Given the description of an element on the screen output the (x, y) to click on. 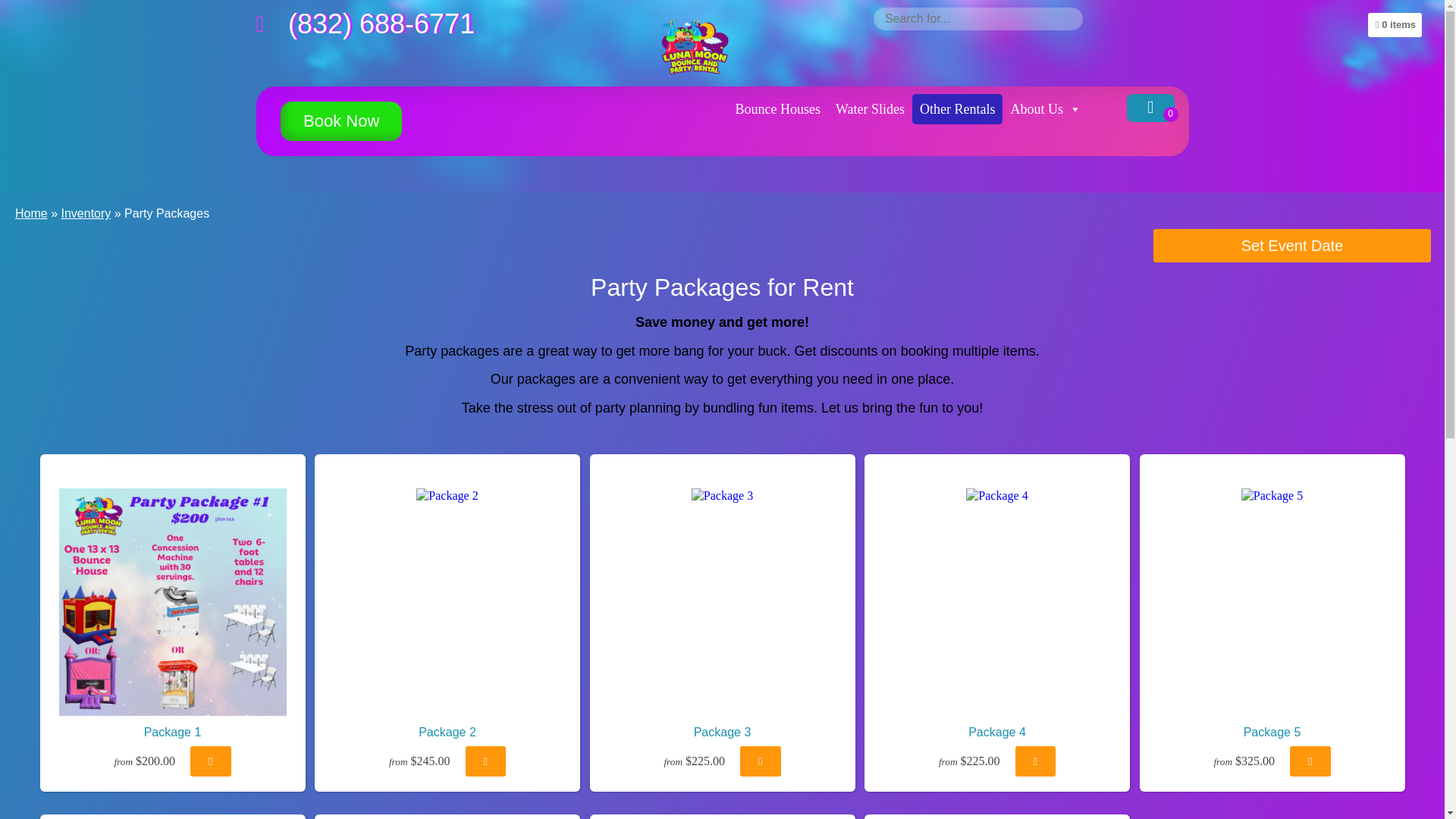
Package 1 (172, 601)
Book Now (341, 120)
Inventory (85, 213)
Home (31, 213)
Other Rentals (957, 109)
Search (22, 9)
About Us (1046, 109)
Water Slides (870, 109)
Bounce Houses (776, 109)
